Given the description of an element on the screen output the (x, y) to click on. 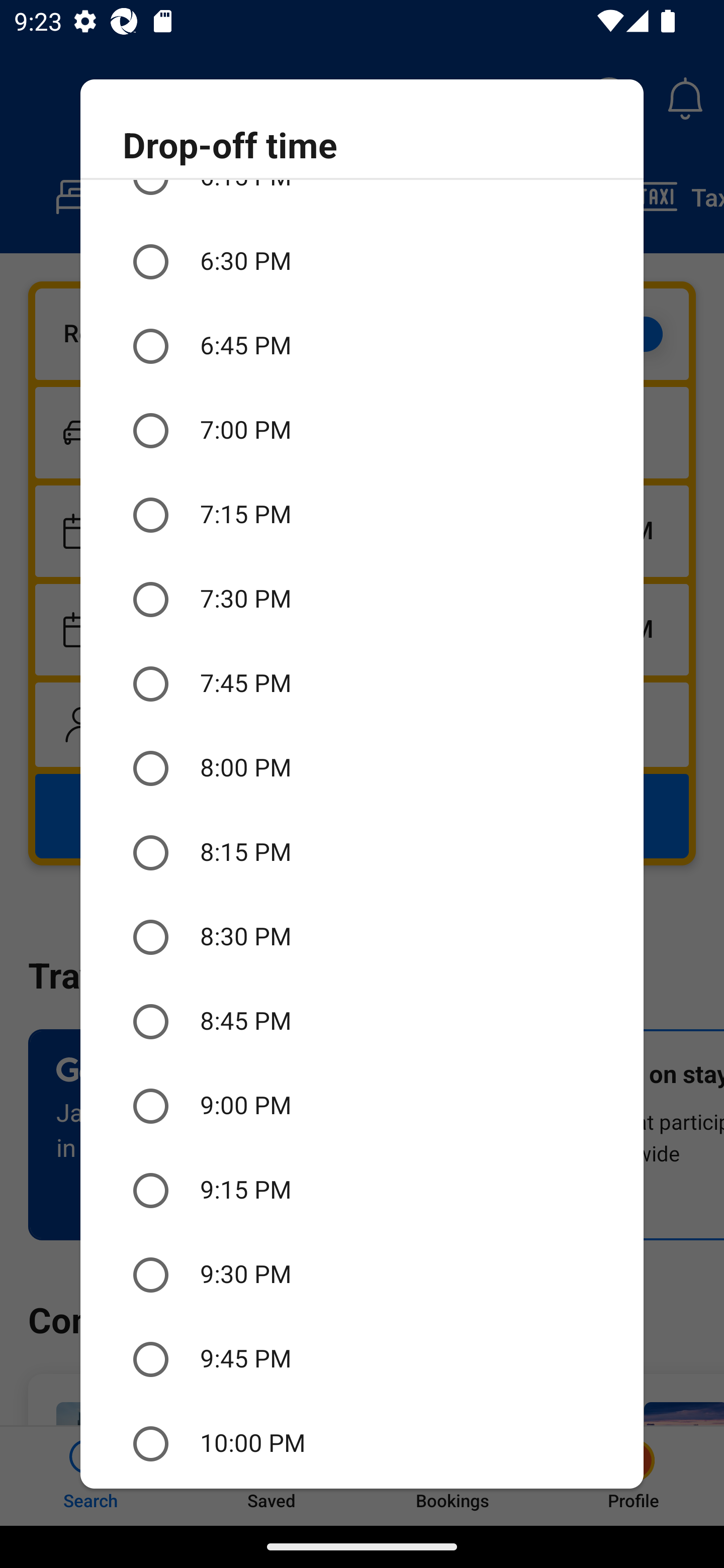
6:30 PM (361, 261)
6:45 PM (361, 346)
7:00 PM (361, 430)
7:15 PM (361, 514)
7:30 PM (361, 598)
7:45 PM (361, 683)
8:00 PM (361, 767)
8:15 PM (361, 852)
8:30 PM (361, 937)
8:45 PM (361, 1022)
9:00 PM (361, 1105)
9:15 PM (361, 1189)
9:30 PM (361, 1274)
9:45 PM (361, 1359)
10:00 PM (361, 1443)
